Given the description of an element on the screen output the (x, y) to click on. 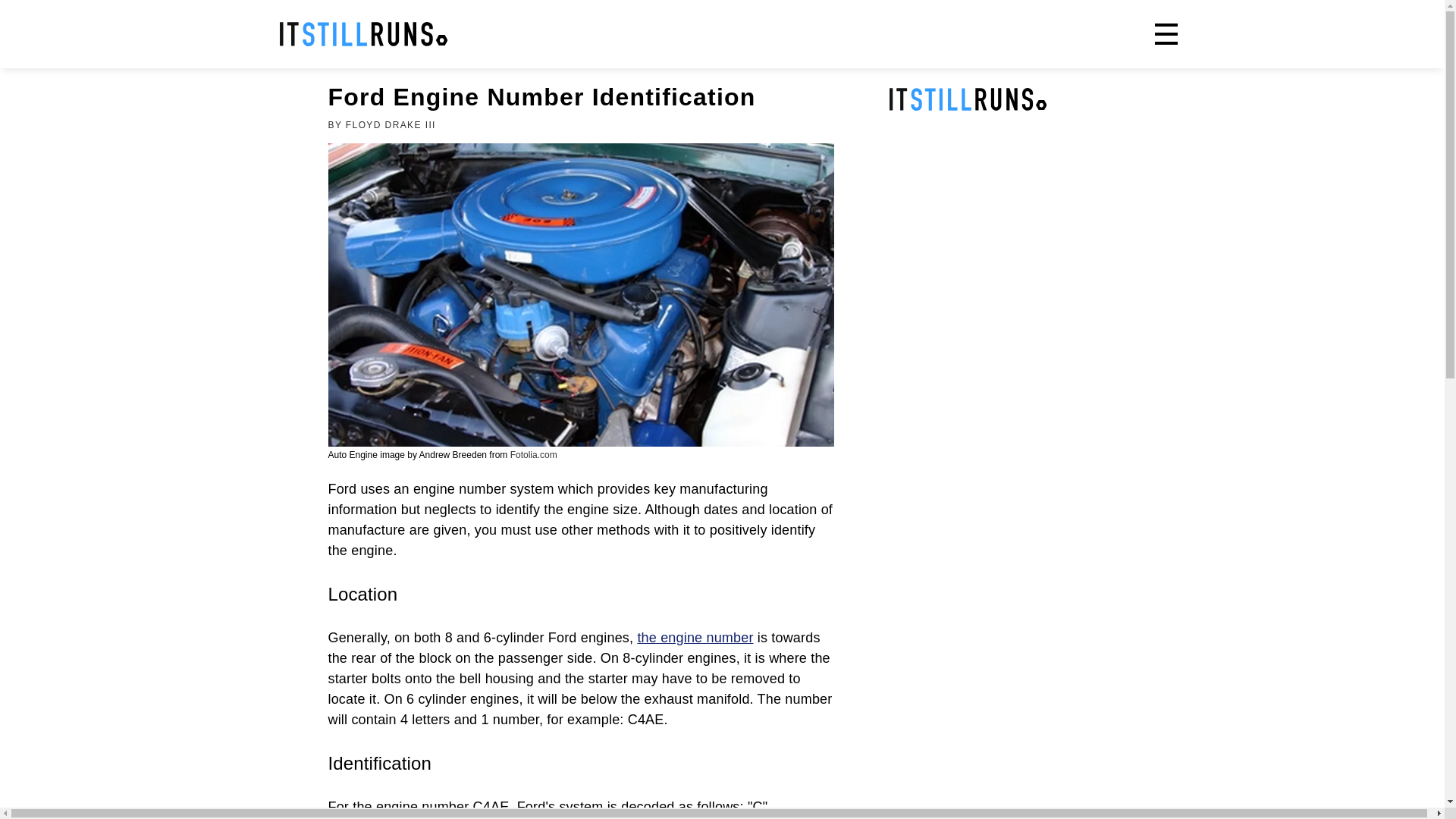
the engine number (694, 637)
Fotolia.com (534, 454)
